Given the description of an element on the screen output the (x, y) to click on. 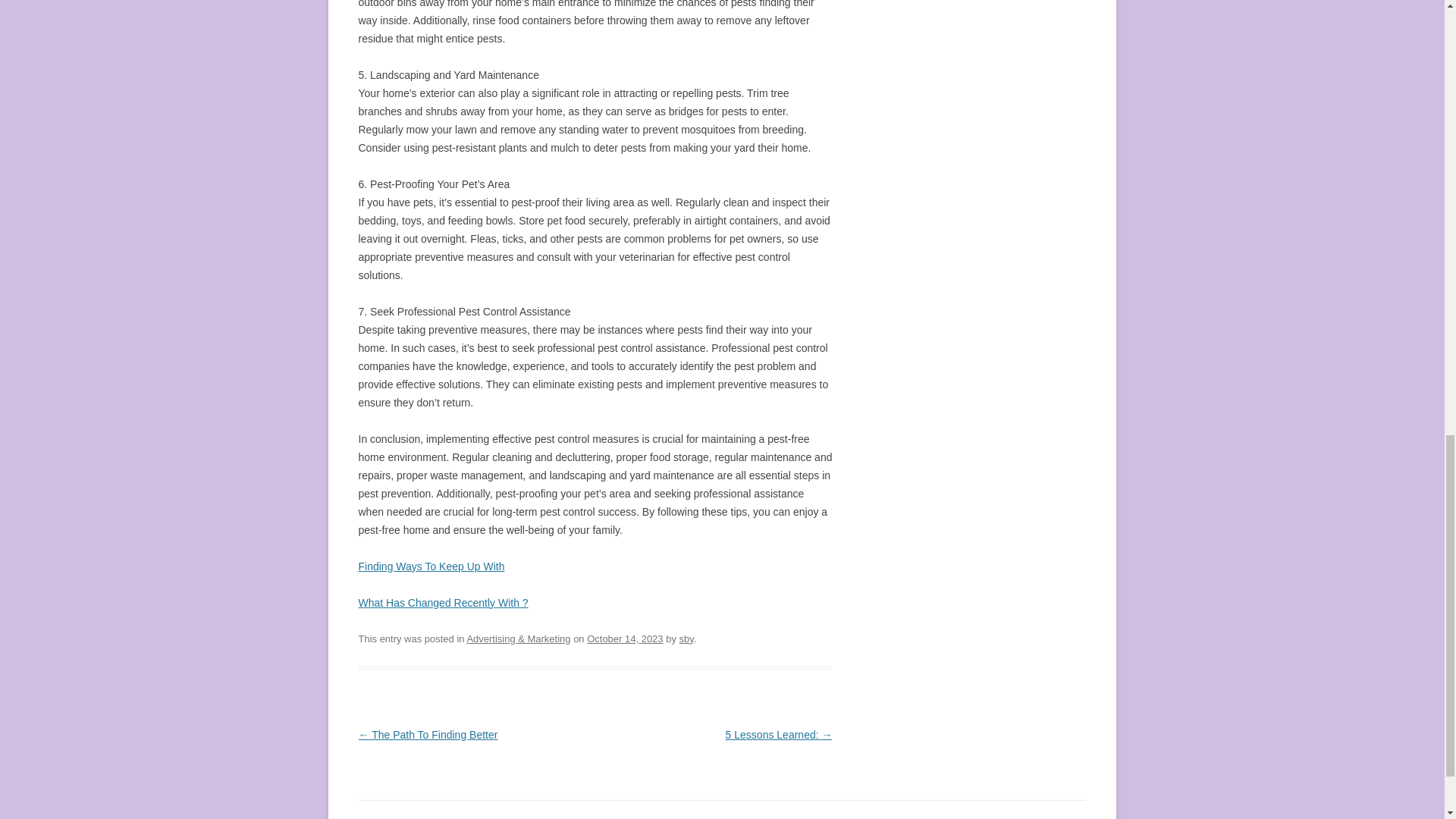
Finding Ways To Keep Up With (430, 566)
October 14, 2023 (624, 638)
View all posts by sby (685, 638)
sby (685, 638)
What Has Changed Recently With ? (442, 603)
9:41 pm (624, 638)
